Given the description of an element on the screen output the (x, y) to click on. 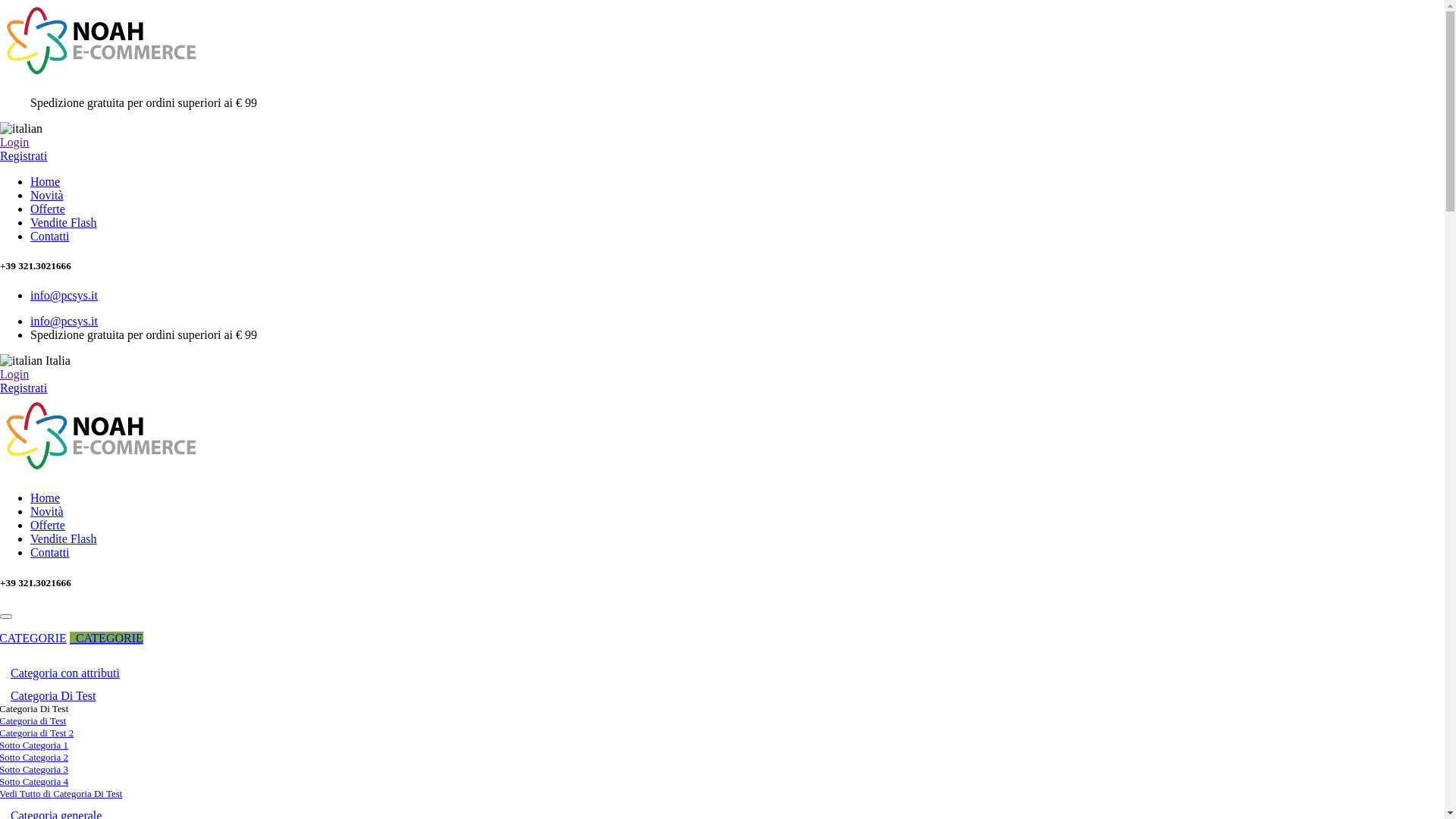
  CATEGORIE Element type: text (106, 637)
info@pcsys.it Element type: text (63, 320)
Registrati Element type: text (23, 387)
Home Element type: text (44, 181)
Vendite Flash Element type: text (63, 222)
Offerte Element type: text (47, 524)
Vendite Flash Element type: text (63, 538)
Offerte Element type: text (47, 208)
italian Element type: hover (21, 360)
Categoria con attributi Element type: text (64, 672)
Contatti Element type: text (49, 552)
Login Element type: text (14, 373)
Registrati Element type: text (23, 155)
Home Element type: text (44, 497)
Login Element type: text (14, 141)
italian Element type: hover (21, 128)
Contatti Element type: text (49, 235)
info@pcsys.it Element type: text (63, 294)
